Given the description of an element on the screen output the (x, y) to click on. 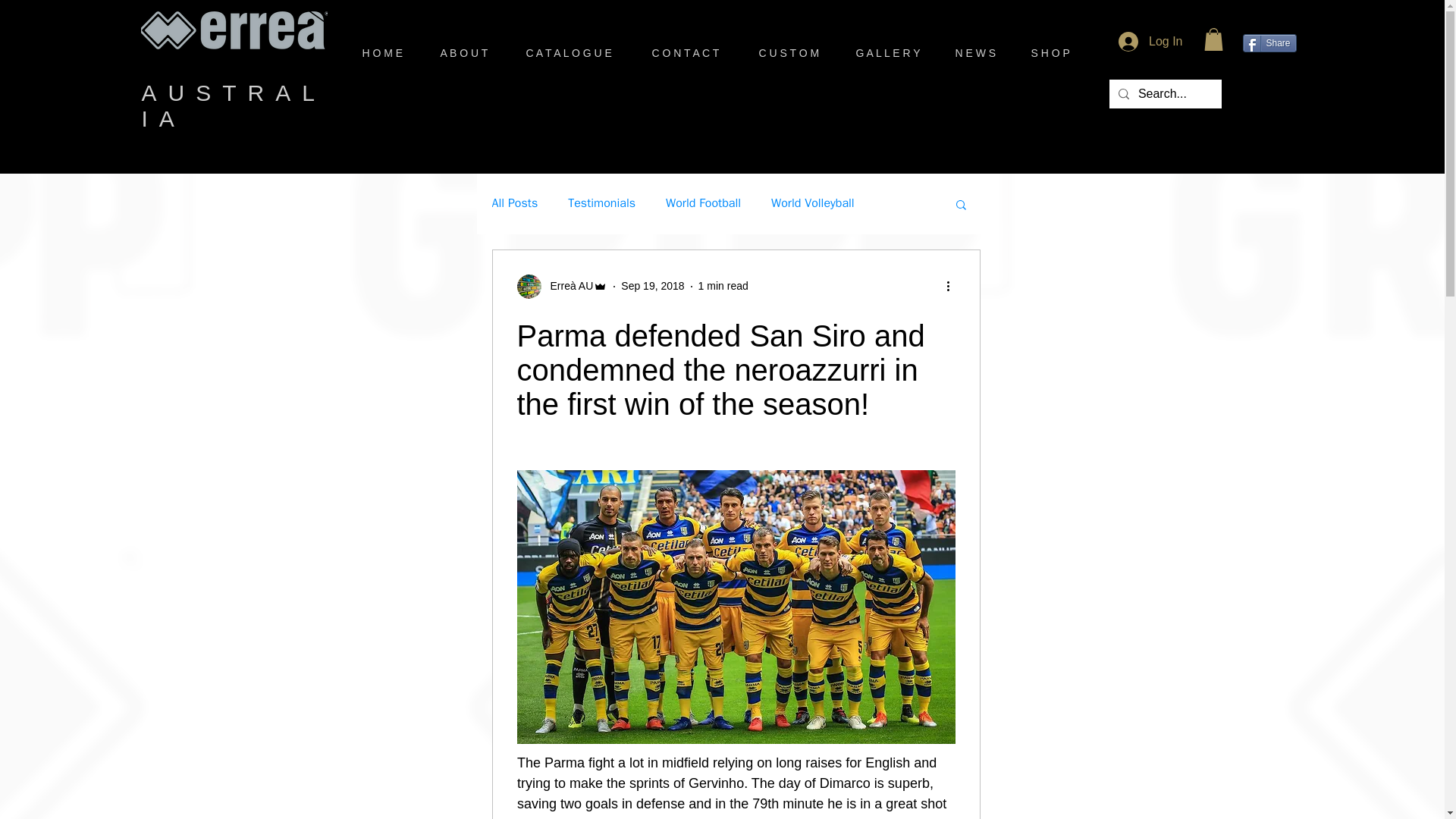
All Posts (514, 203)
N E W S (981, 53)
A B O U T (472, 53)
S H O P (1056, 53)
C U S T O M (796, 53)
Facebook Like (1270, 97)
C A T A L O G U E (576, 53)
G A L L E R Y (893, 53)
Log In (1150, 41)
World Volleyball (812, 203)
